Given the description of an element on the screen output the (x, y) to click on. 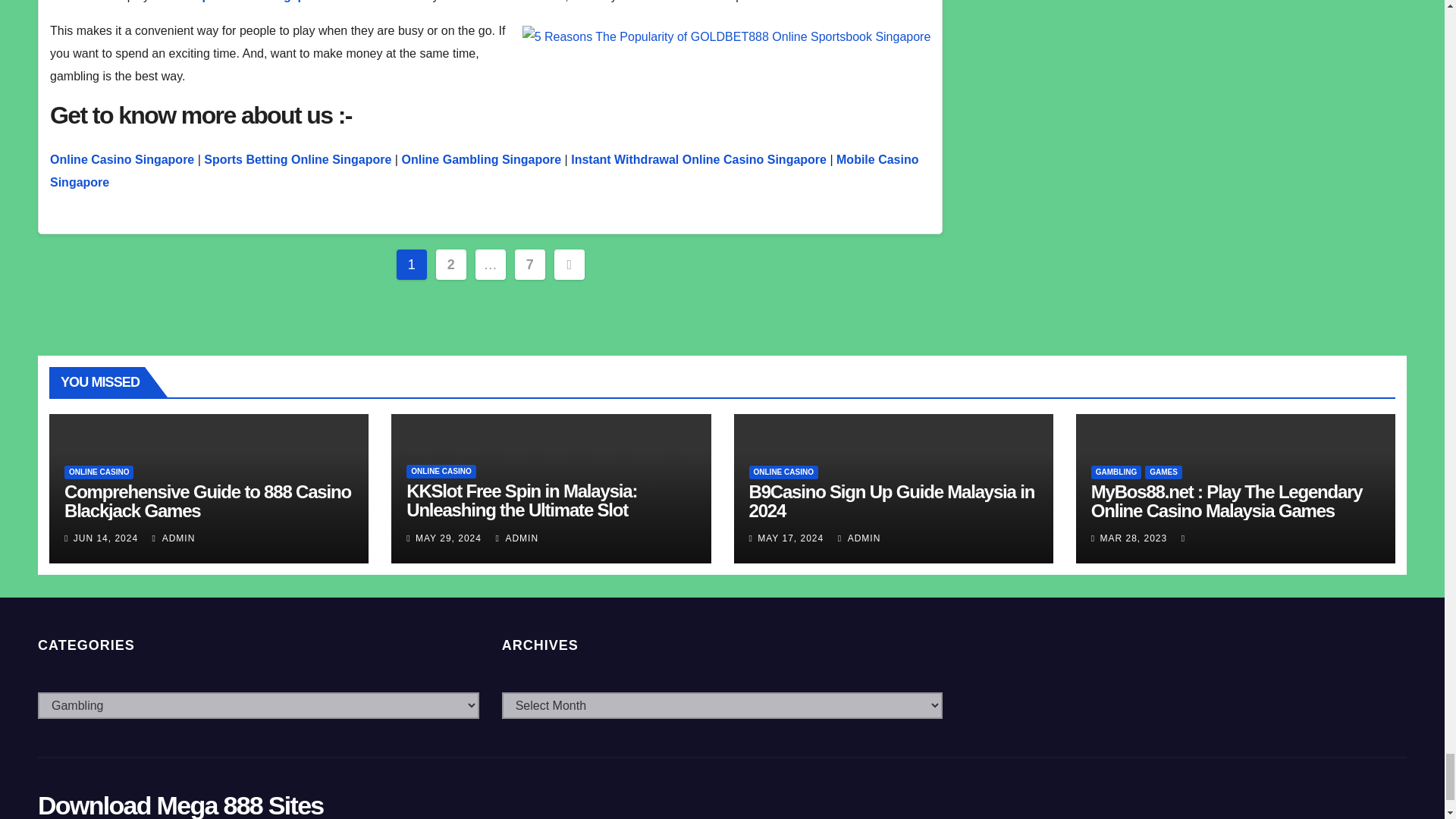
Permalink to: B9Casino Sign Up Guide Malaysia in 2024 (892, 500)
